Given the description of an element on the screen output the (x, y) to click on. 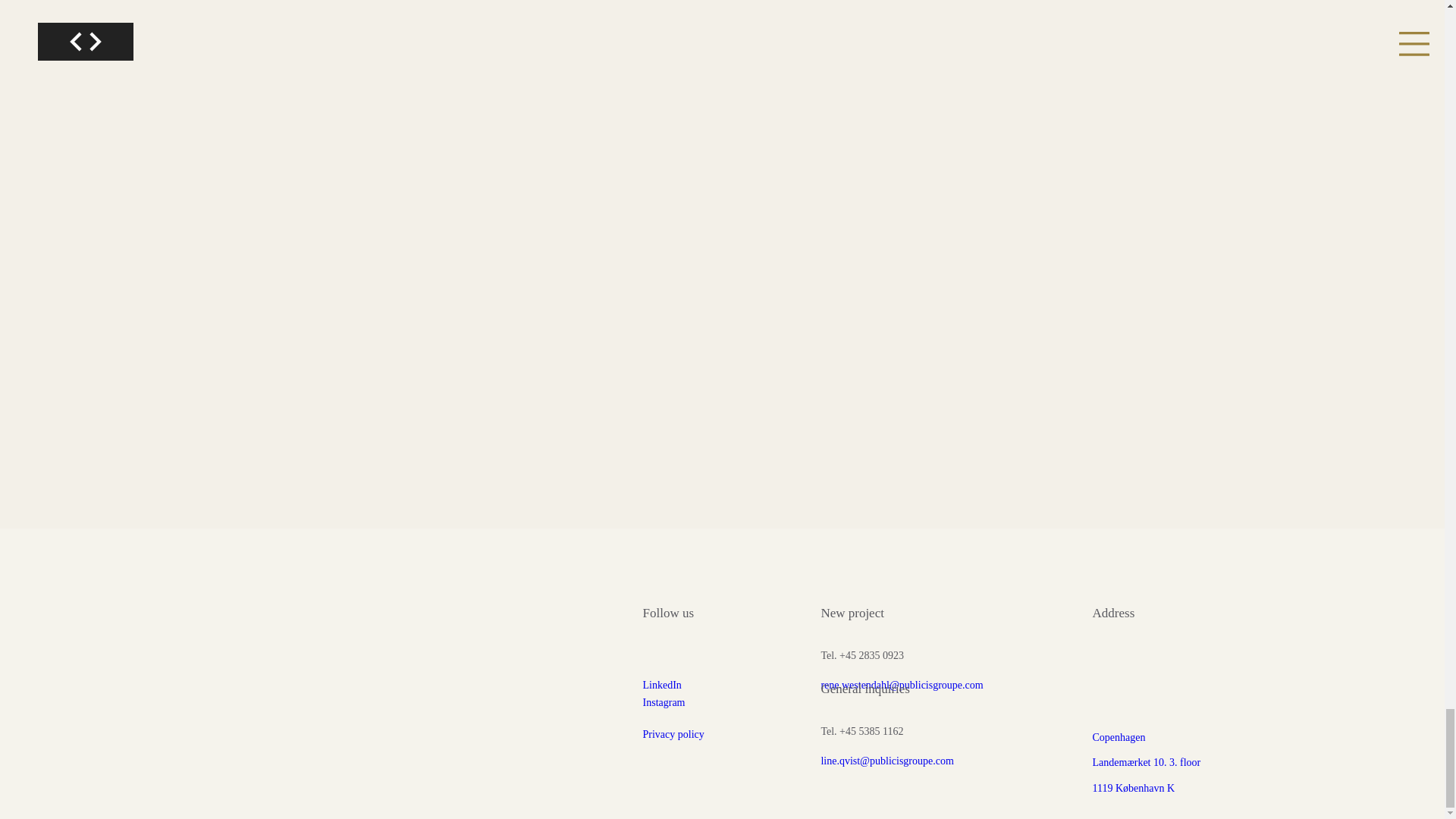
Instagram (664, 702)
Privacy policy (673, 734)
LinkedIn (662, 685)
